Given the description of an element on the screen output the (x, y) to click on. 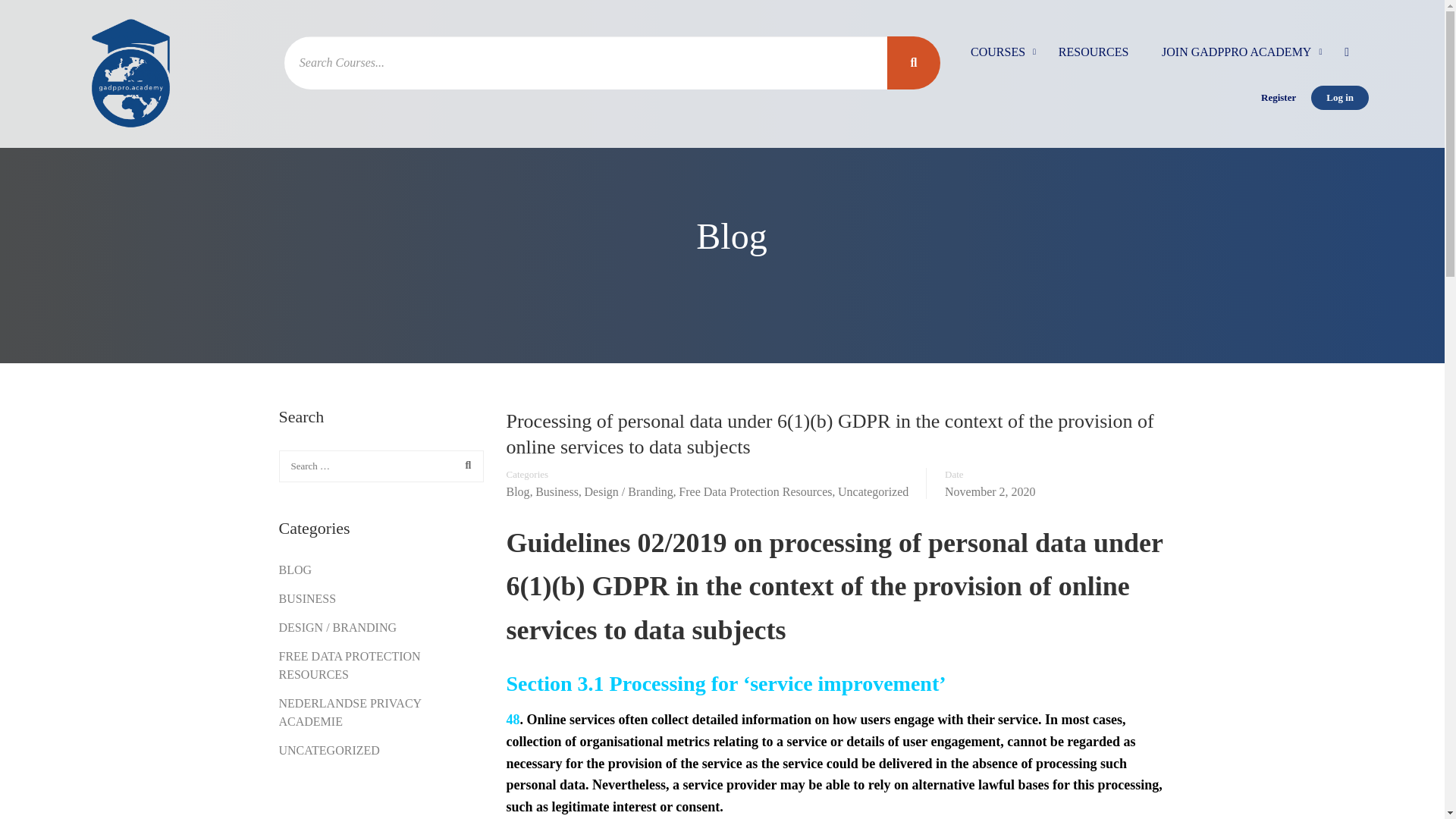
Uncategorized (873, 491)
Blog (517, 491)
JOIN GADPPRO ACADEMY (1236, 58)
Search (464, 465)
Log in (1339, 96)
Business (556, 491)
Search (464, 465)
COURSES (998, 58)
Free Data Protection Resources (754, 491)
Register (1278, 96)
